Given the description of an element on the screen output the (x, y) to click on. 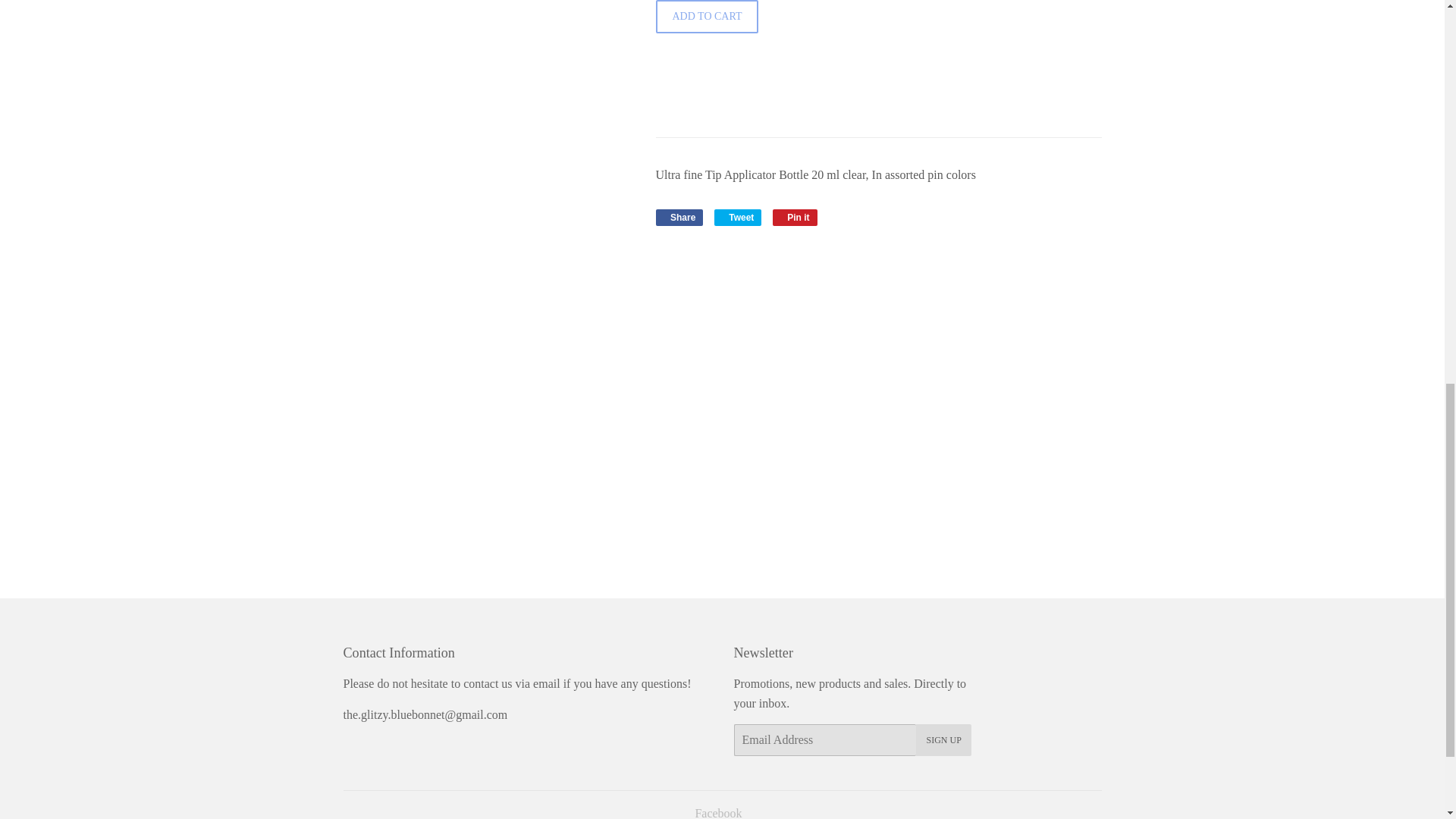
Facebook (679, 217)
Pin on Pinterest (717, 812)
SIGN UP (737, 217)
Tweet on Twitter (794, 217)
Share on Facebook (943, 739)
The Glitzy Bluebonnet on Facebook (737, 217)
ADD TO CART (679, 217)
